Given the description of an element on the screen output the (x, y) to click on. 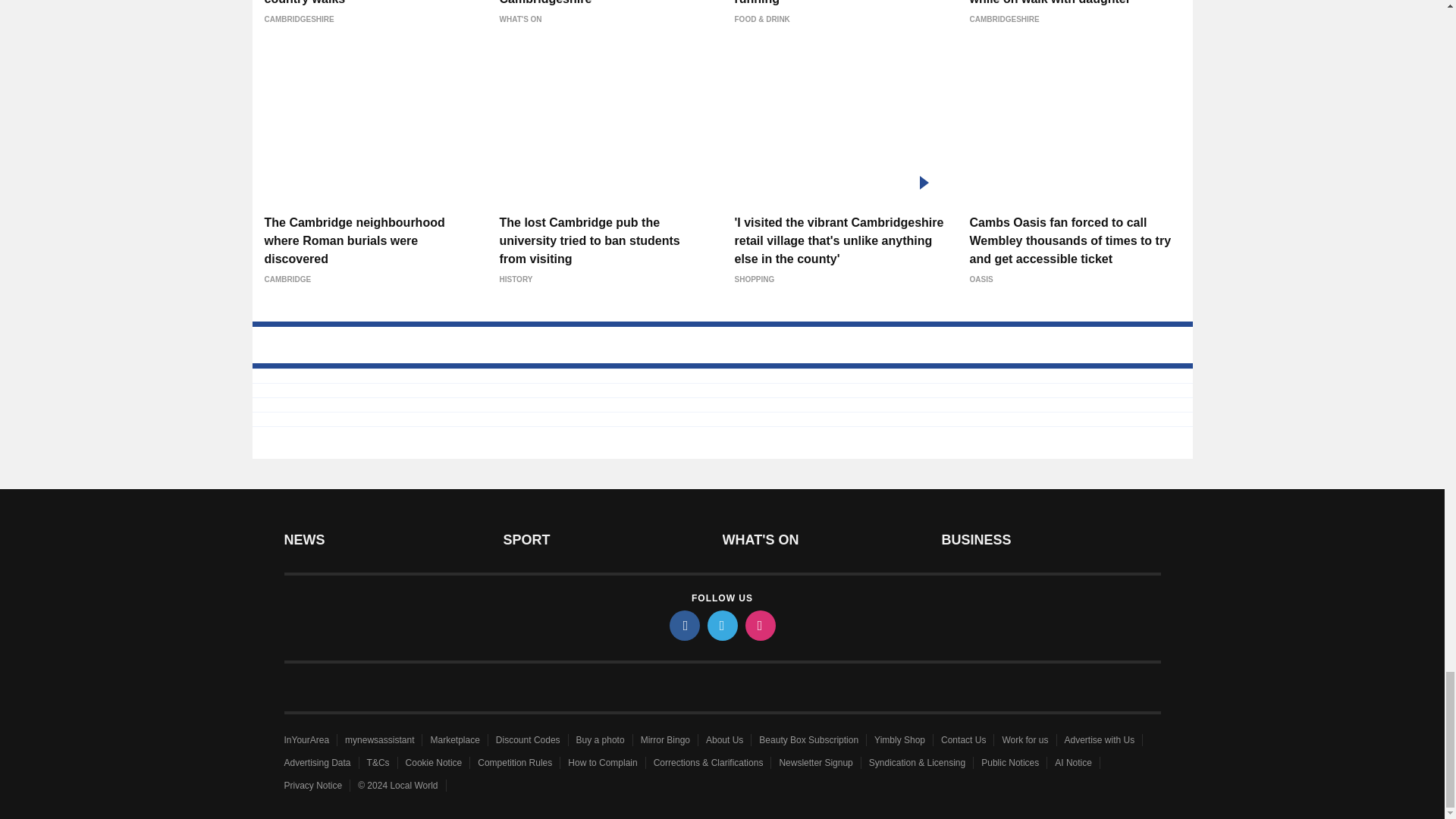
instagram (759, 625)
facebook (683, 625)
twitter (721, 625)
